Given the description of an element on the screen output the (x, y) to click on. 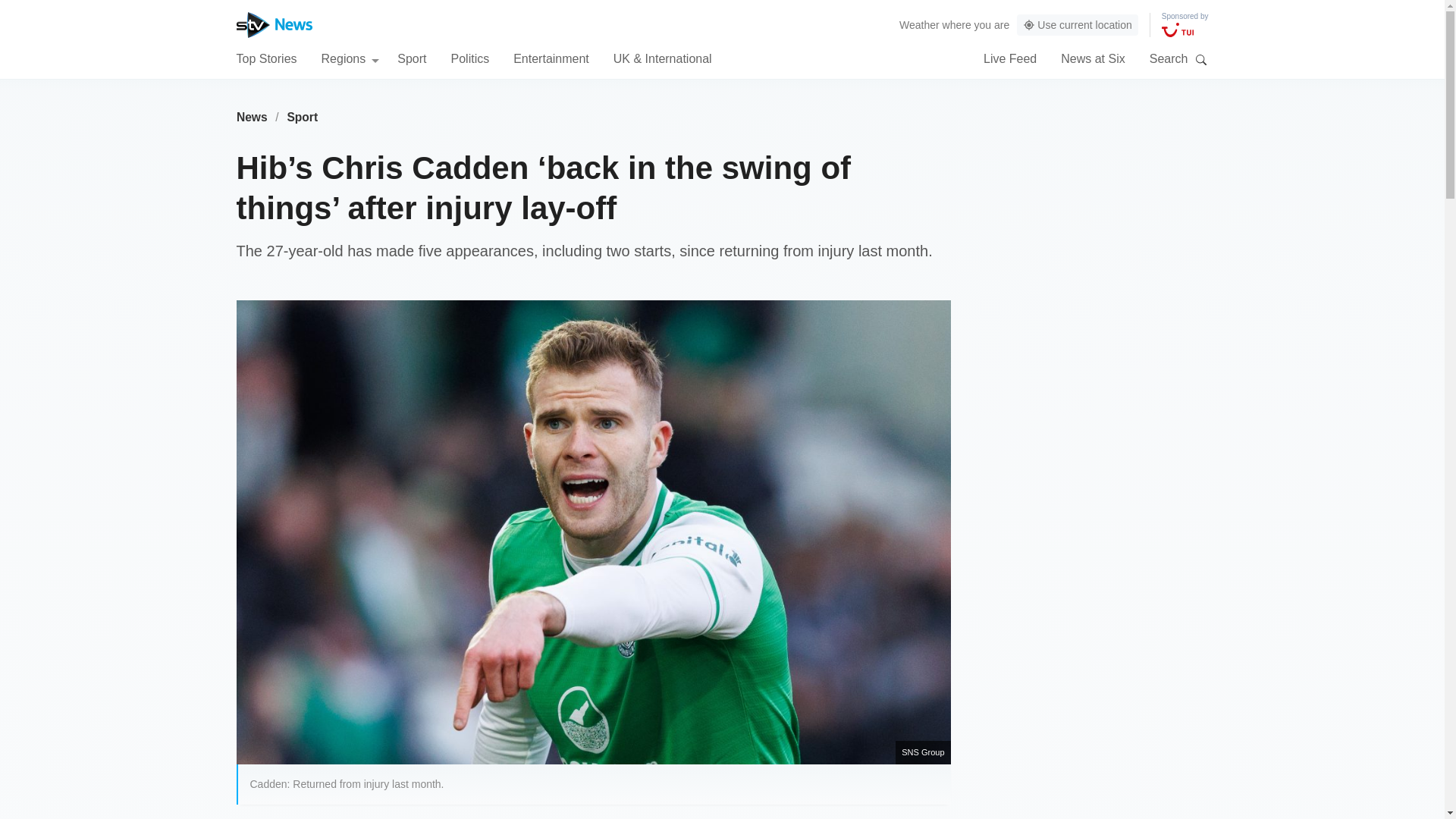
Weather (919, 24)
Sport (302, 116)
Top Stories (266, 57)
Politics (469, 57)
Entertainment (551, 57)
Search (1201, 59)
Use current location (1077, 25)
Regions (350, 57)
News at Six (1092, 57)
News (252, 116)
Live Feed (1010, 57)
